Given the description of an element on the screen output the (x, y) to click on. 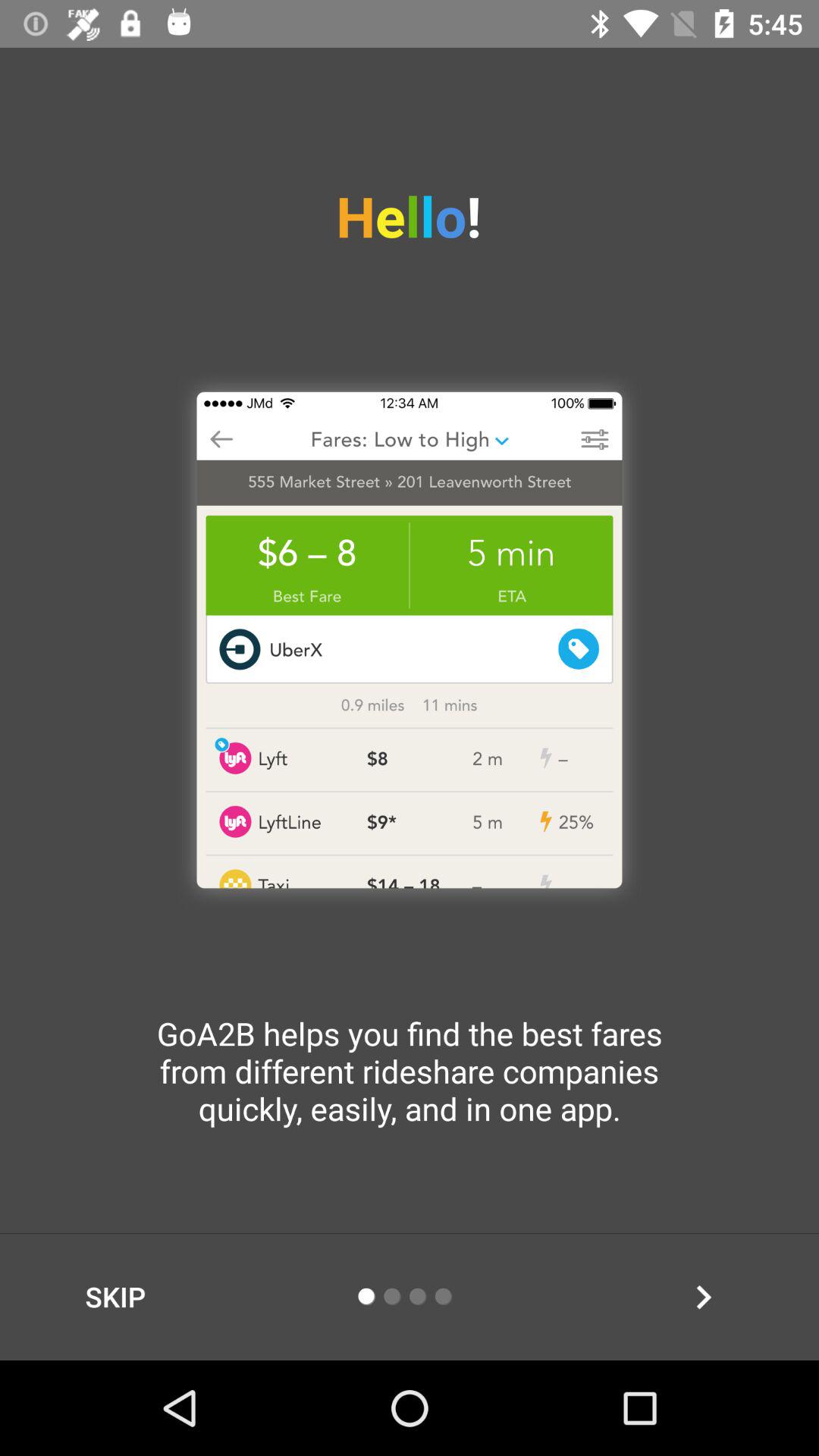
press the icon at the bottom right corner (703, 1296)
